Given the description of an element on the screen output the (x, y) to click on. 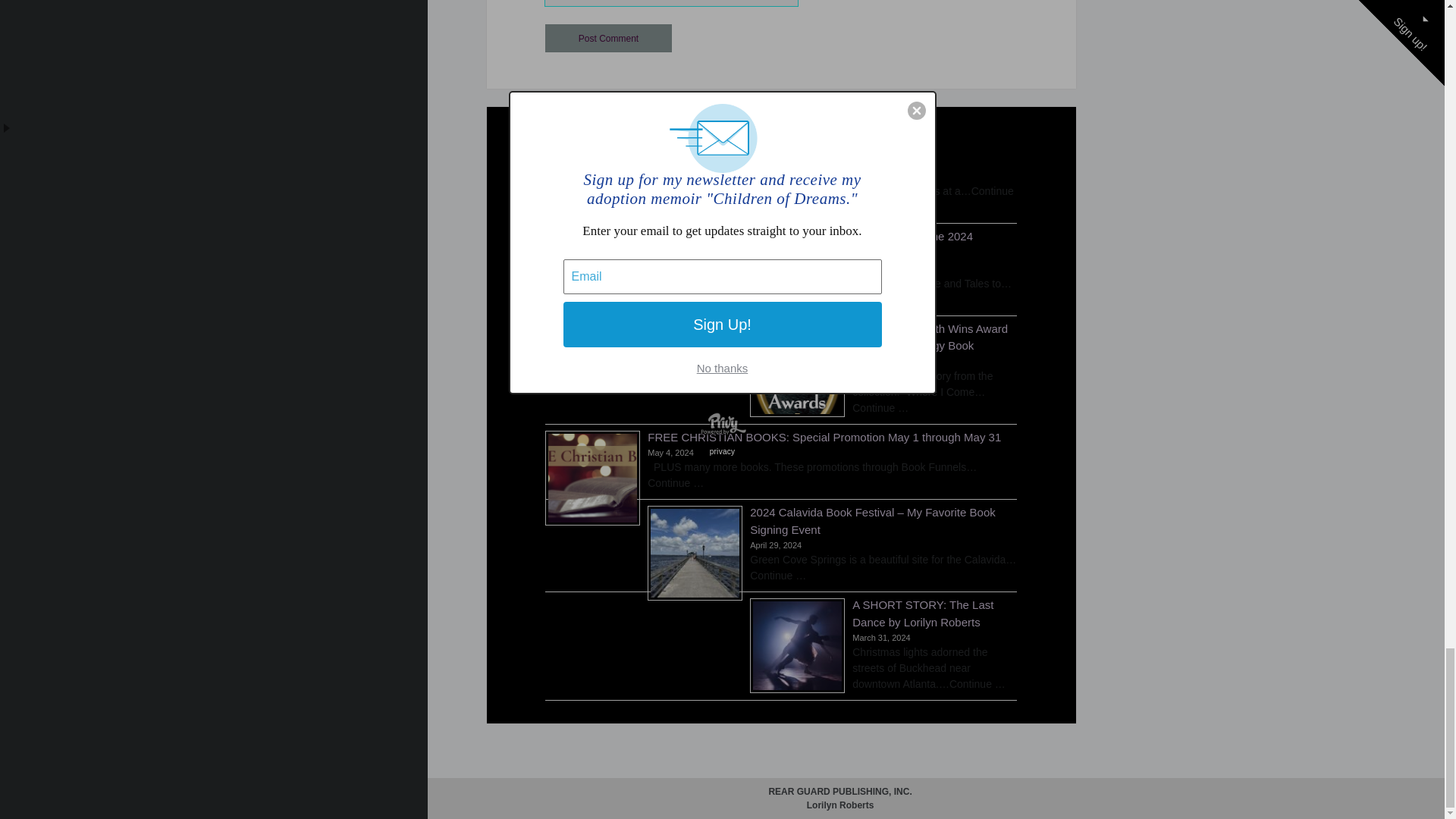
Post Comment (607, 38)
